Given the description of an element on the screen output the (x, y) to click on. 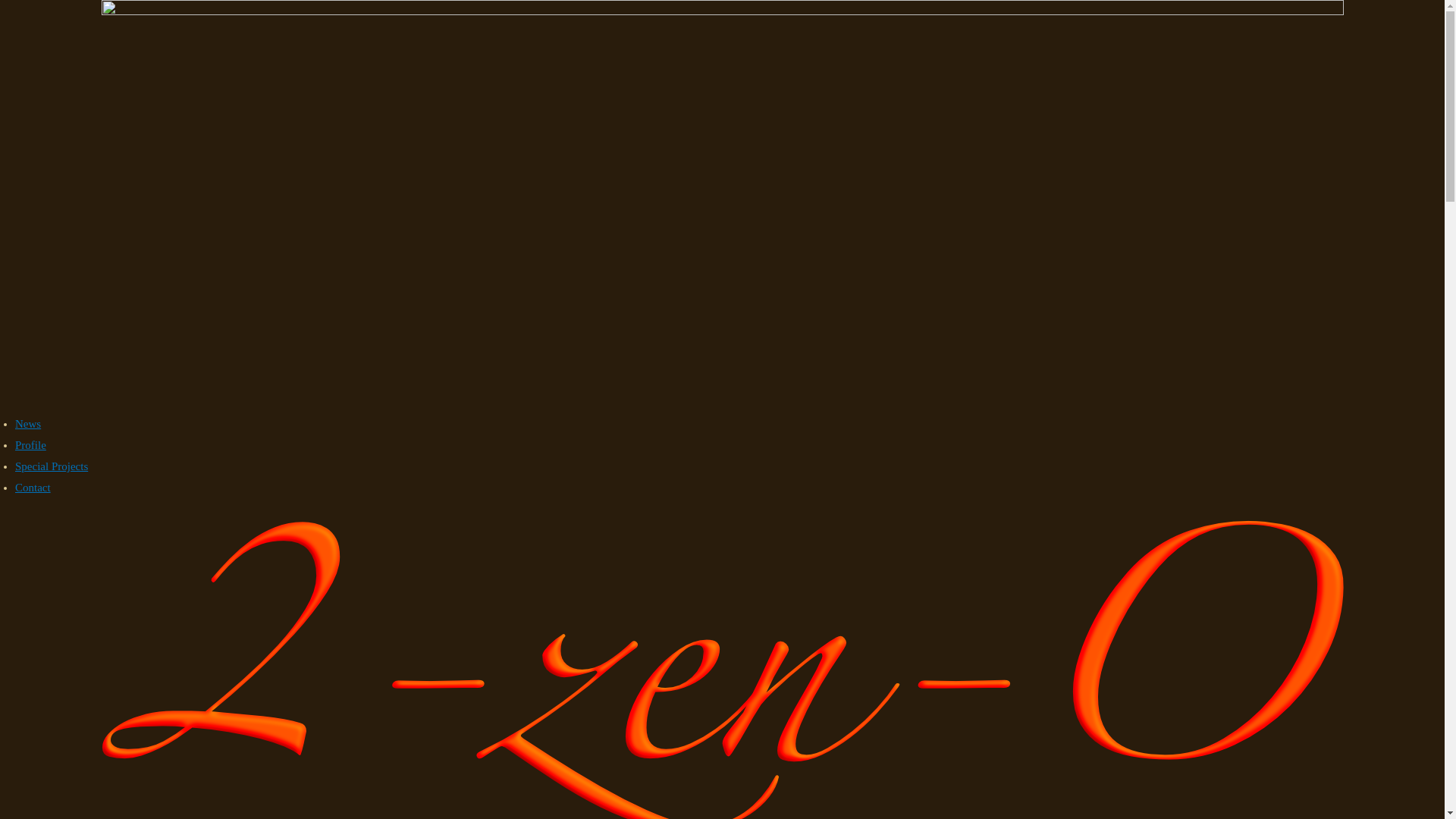
Contact Element type: text (32, 487)
Profile Element type: text (30, 445)
Special Projects Element type: text (51, 466)
News Element type: text (27, 423)
